Given the description of an element on the screen output the (x, y) to click on. 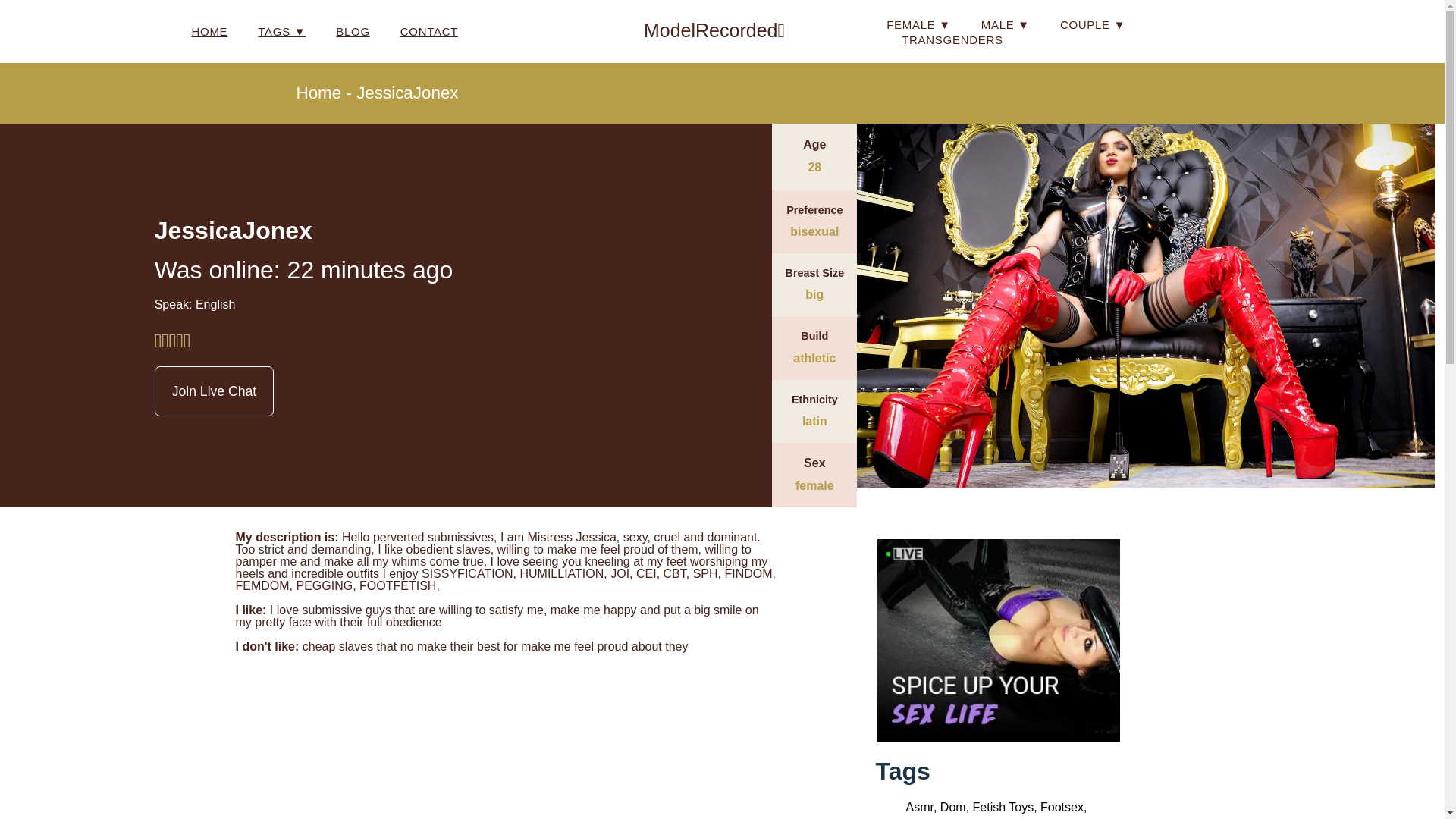
CONTACT (429, 31)
Home (208, 31)
Contact (429, 31)
Blog (352, 31)
HOME (208, 31)
BLOG (352, 31)
TRANSGENDERS (952, 39)
